Given the description of an element on the screen output the (x, y) to click on. 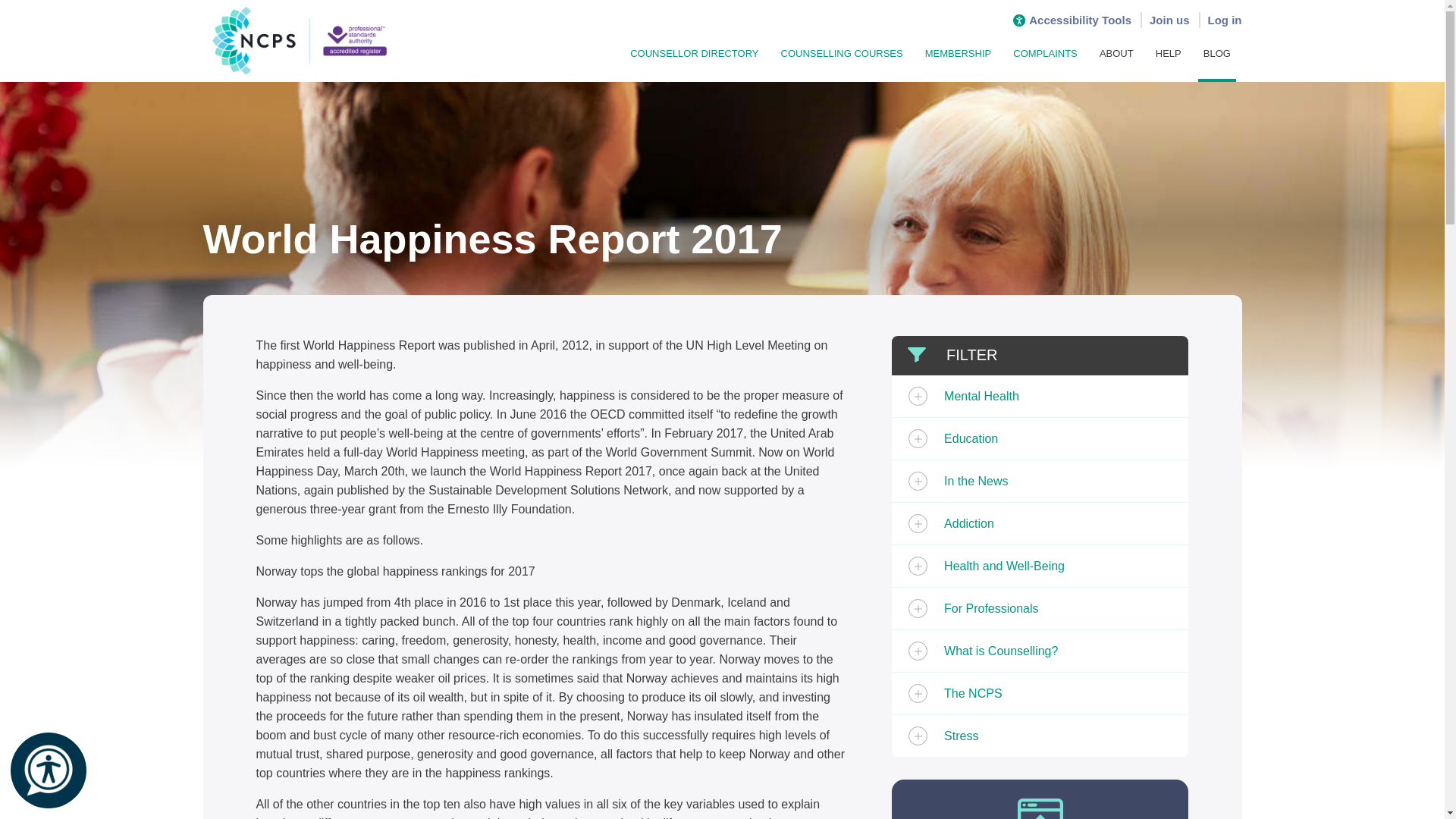
Join us (1169, 19)
Launch Recite Me (48, 769)
MEMBERSHIP (958, 52)
COUNSELLING COURSES (842, 52)
COUNSELLOR DIRECTORY (695, 52)
Launch Recite Me (47, 770)
Accessibility Tools (1072, 19)
Log in (1224, 19)
COMPLAINTS (1046, 52)
ABOUT (1115, 52)
